Given the description of an element on the screen output the (x, y) to click on. 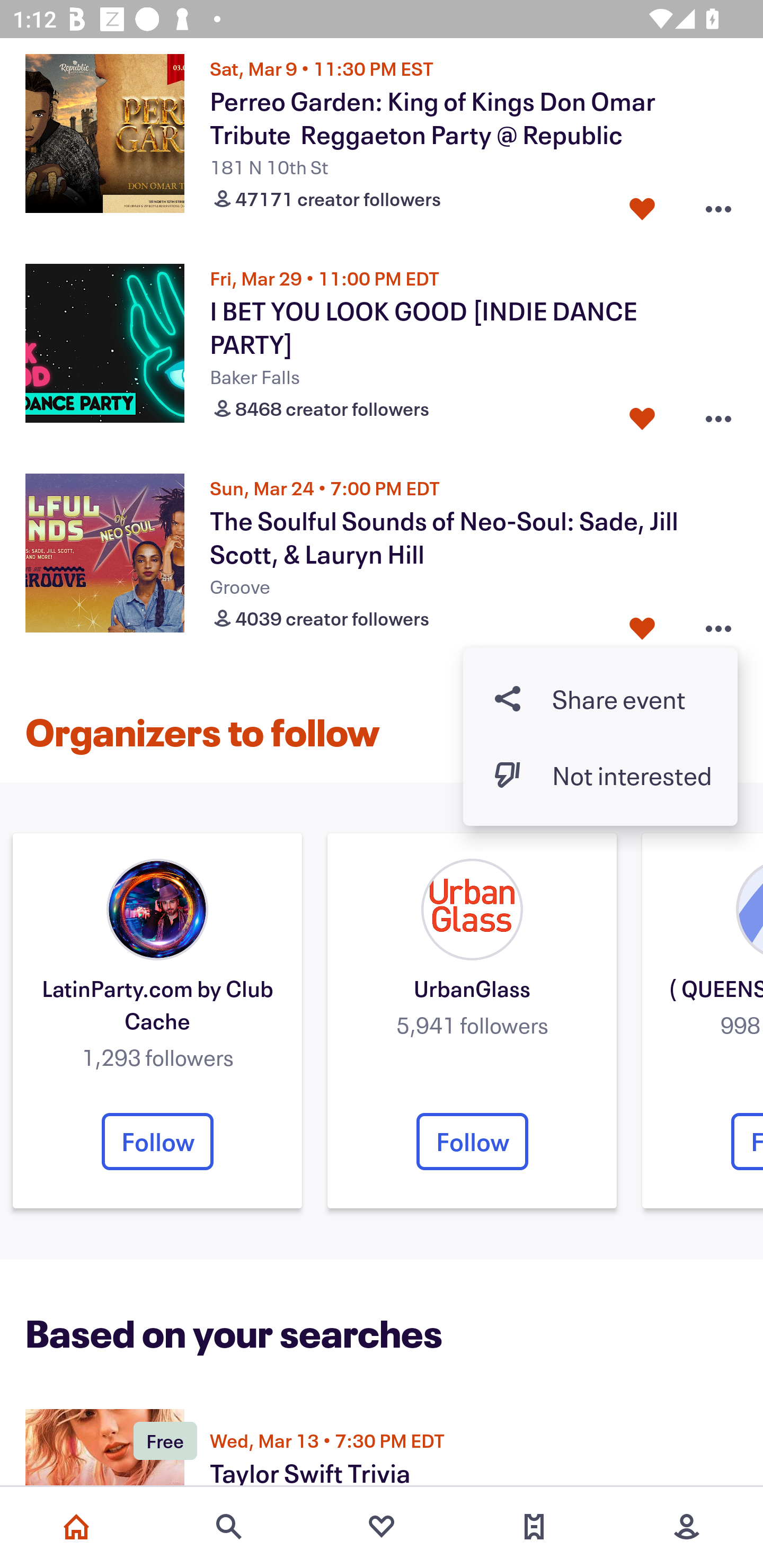
Share button Share event (600, 698)
Dislike event button Not interested (600, 774)
